Given the description of an element on the screen output the (x, y) to click on. 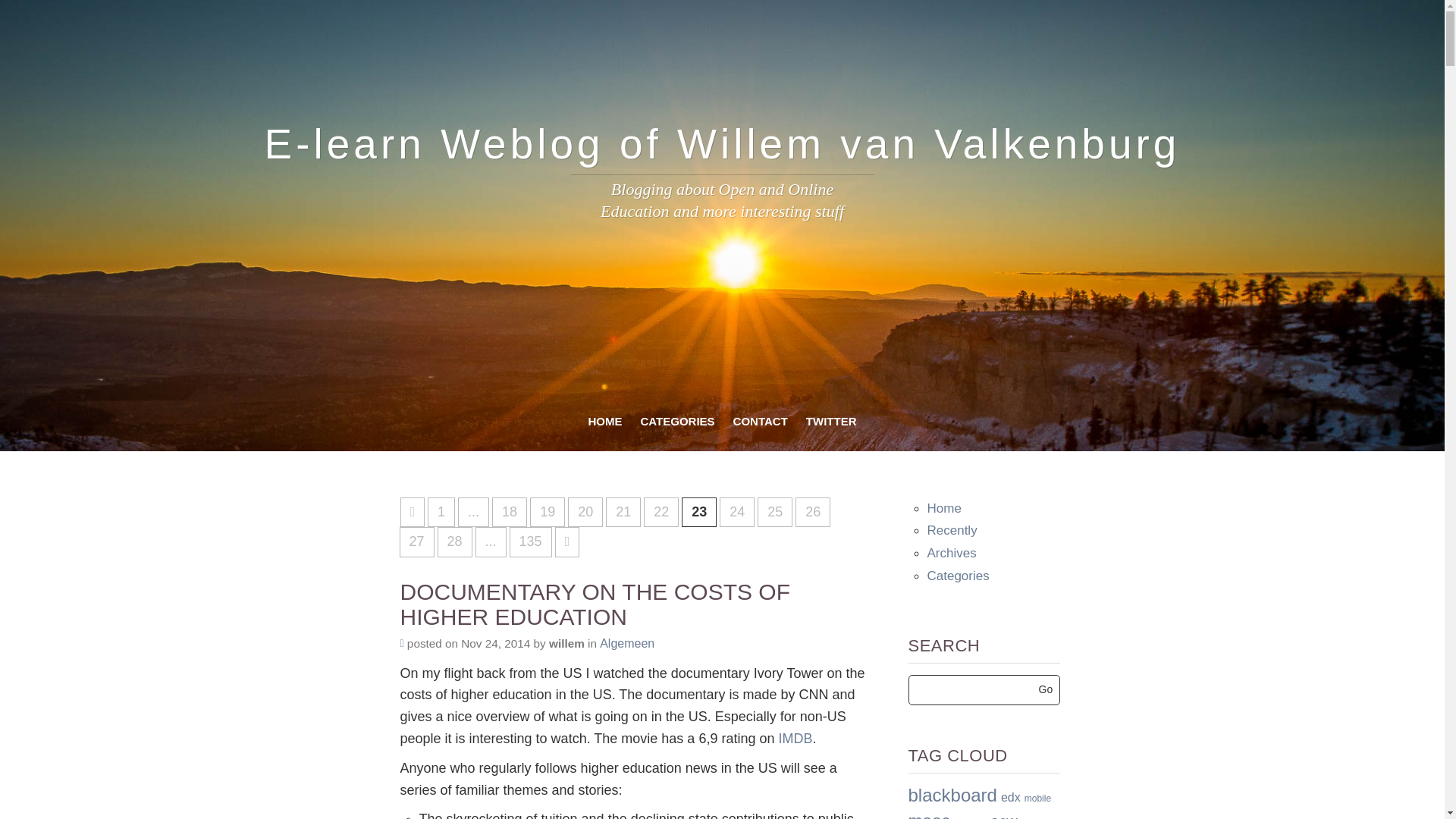
28 (454, 542)
24 (736, 512)
... (491, 542)
DOCUMENTARY ON THE COSTS OF HIGHER EDUCATION (635, 604)
21 (622, 512)
22 (660, 512)
19 (546, 512)
20 (584, 512)
18 (509, 512)
26 (811, 512)
Algemeen (626, 643)
135 (530, 542)
25 (774, 512)
Browse category (626, 643)
Go (1045, 689)
